Given the description of an element on the screen output the (x, y) to click on. 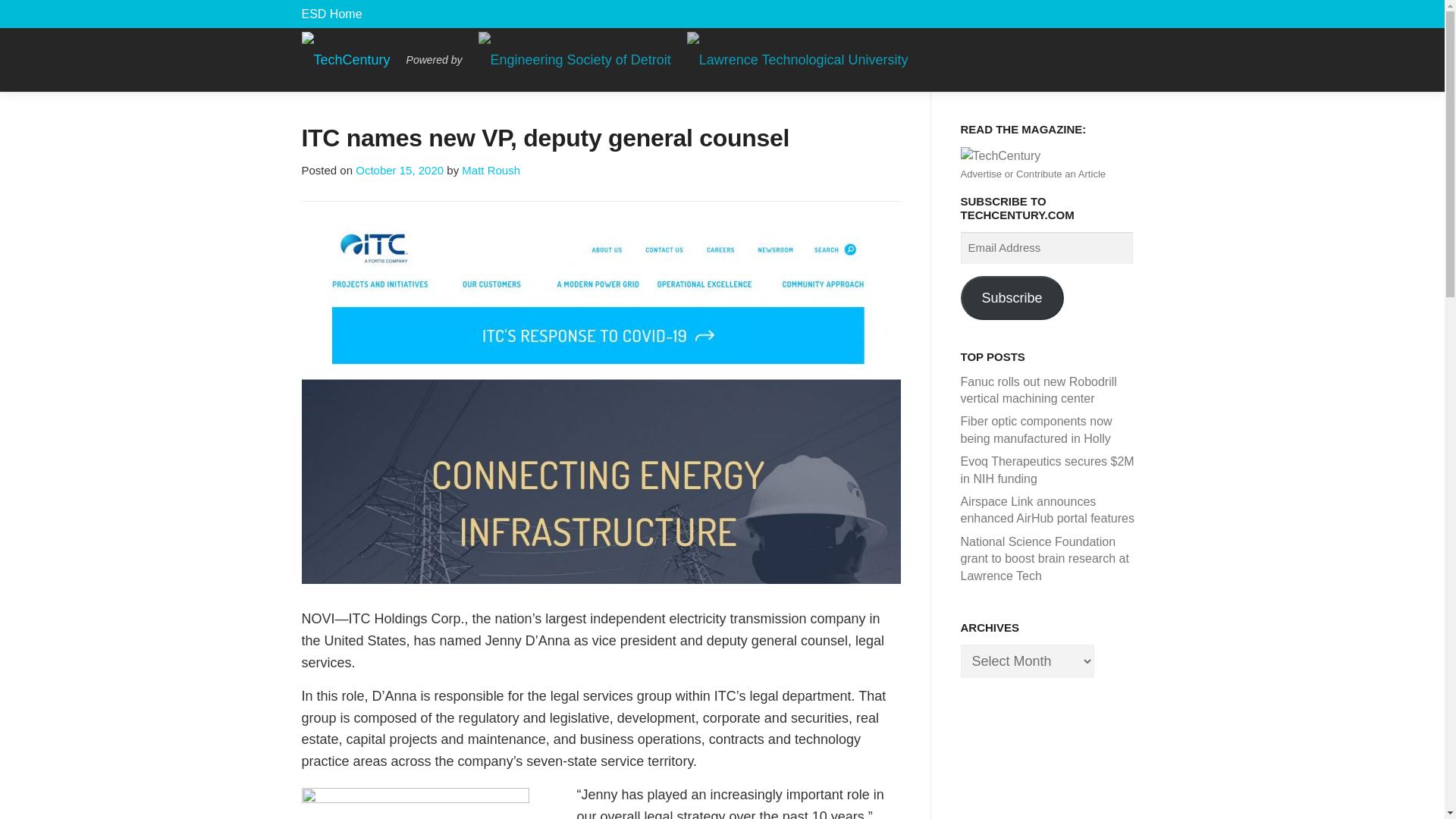
Advertise or Contribute an Article (1032, 173)
ESD Home (331, 13)
October 15, 2020 (399, 169)
Subscribe (1010, 298)
Fanuc rolls out new Robodrill vertical machining center (1037, 389)
Matt Roush (490, 169)
Airspace Link announces enhanced AirHub portal features (1046, 509)
Fiber optic components now being manufactured in Holly (1035, 429)
Engineering Society of Detroit (331, 13)
